Given the description of an element on the screen output the (x, y) to click on. 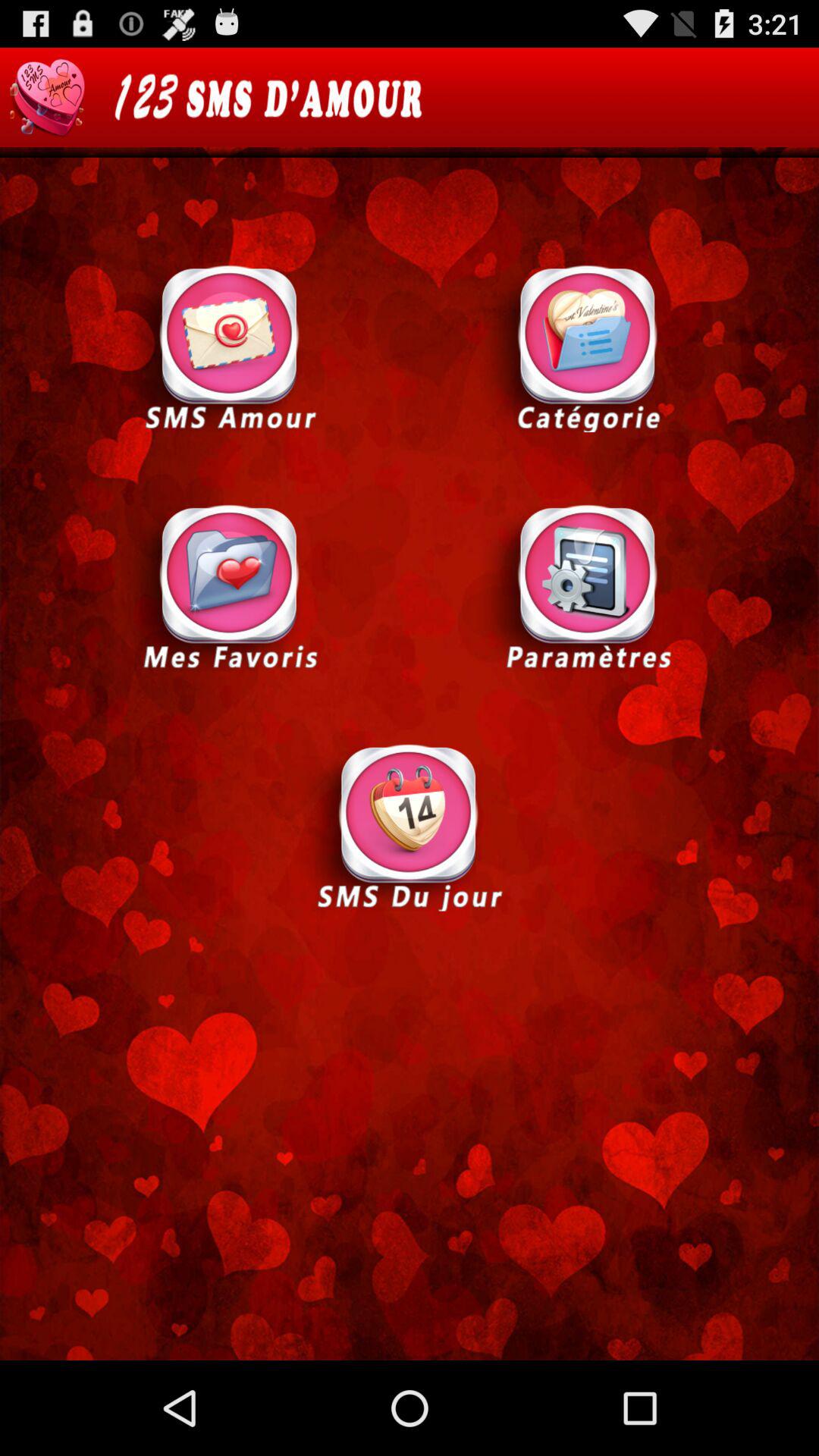
mes favoris song selection (229, 586)
